Given the description of an element on the screen output the (x, y) to click on. 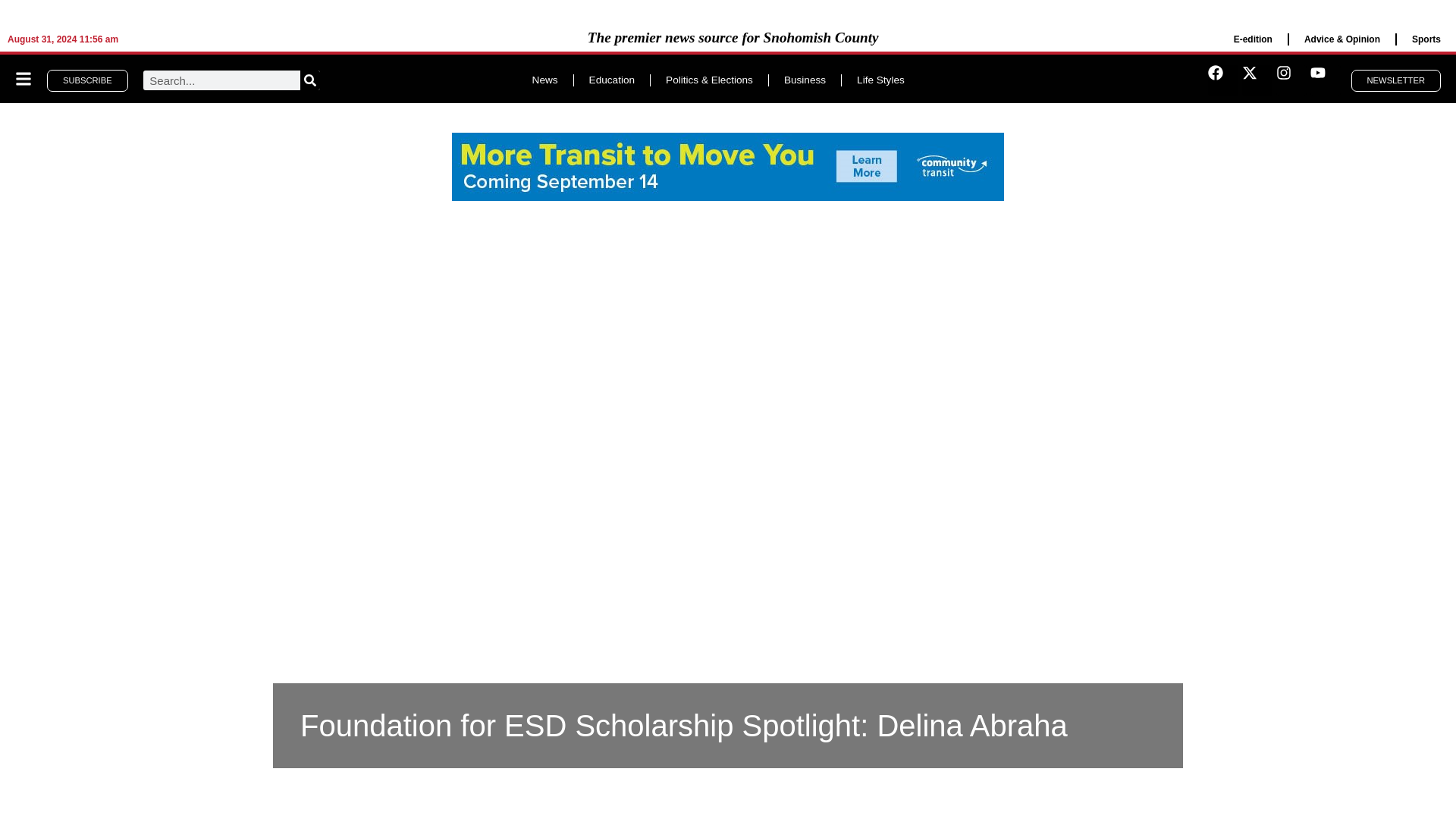
Life Styles (880, 80)
News (544, 80)
SUBSCRIBE (87, 80)
E-edition (1252, 39)
Business (804, 80)
Education (611, 80)
NEWSLETTER (1396, 80)
